Given the description of an element on the screen output the (x, y) to click on. 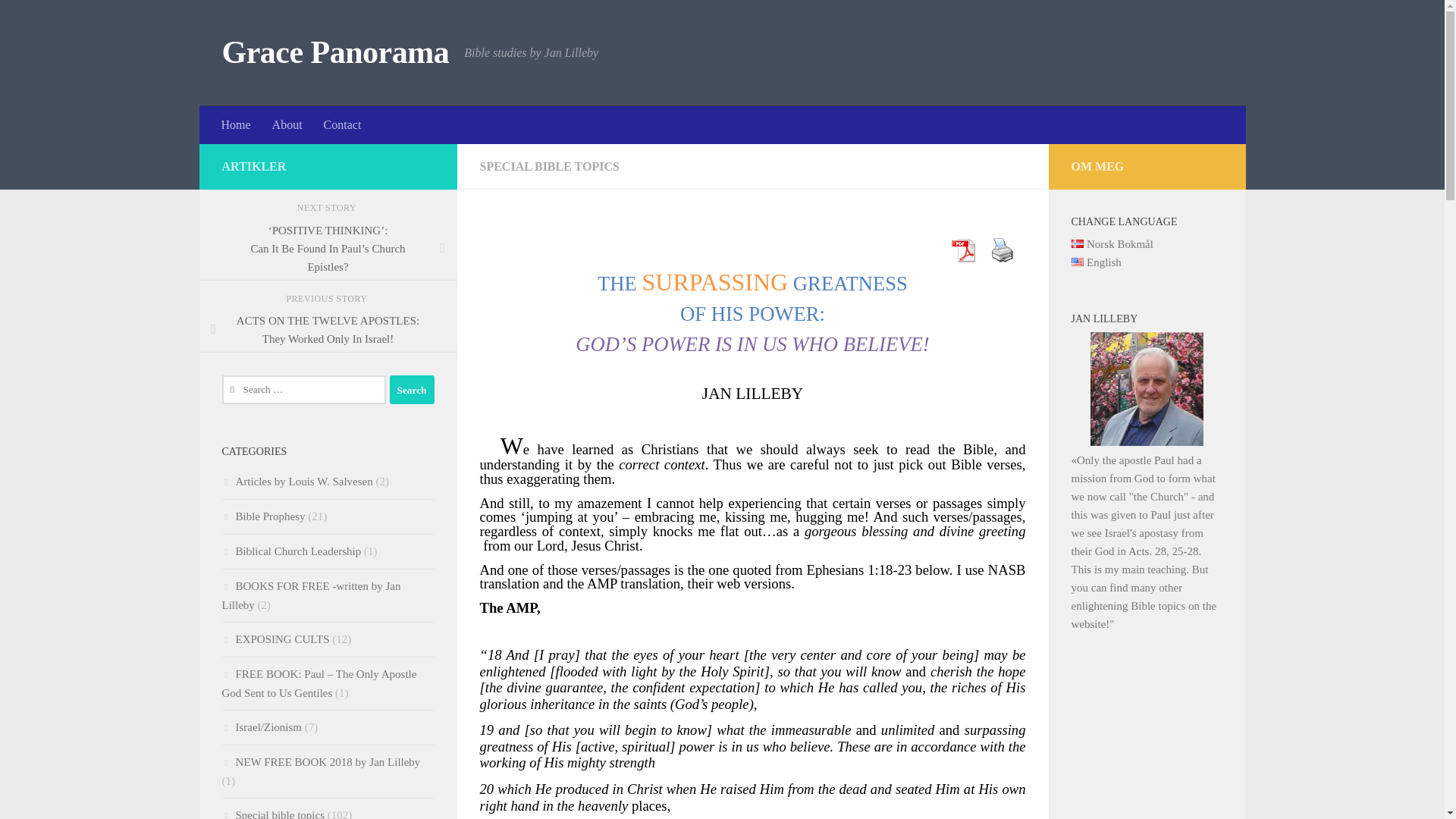
View PDF (962, 250)
Search (411, 389)
Grace Panorama (334, 53)
About (287, 125)
Articles by Louis W. Salvesen (296, 481)
Home (236, 125)
Biblical Church Leadership (291, 551)
Bible Prophesy (327, 329)
NEW FREE BOOK 2018 by Jan Lilleby (262, 516)
Search (320, 761)
Search (411, 389)
Print Content (411, 389)
Skip to content (1001, 250)
Contact (59, 20)
